Given the description of an element on the screen output the (x, y) to click on. 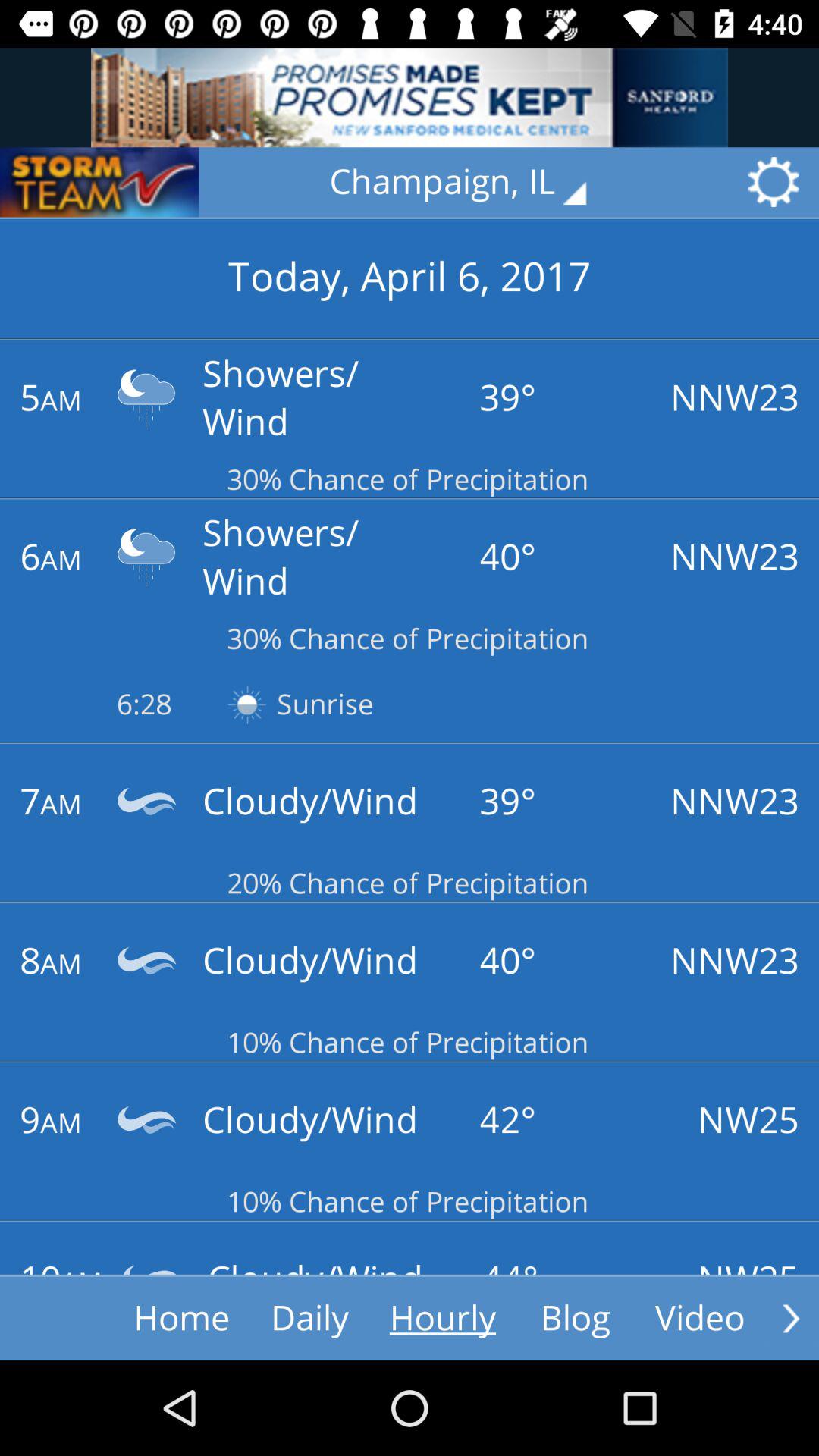
go to next page (791, 1318)
